Given the description of an element on the screen output the (x, y) to click on. 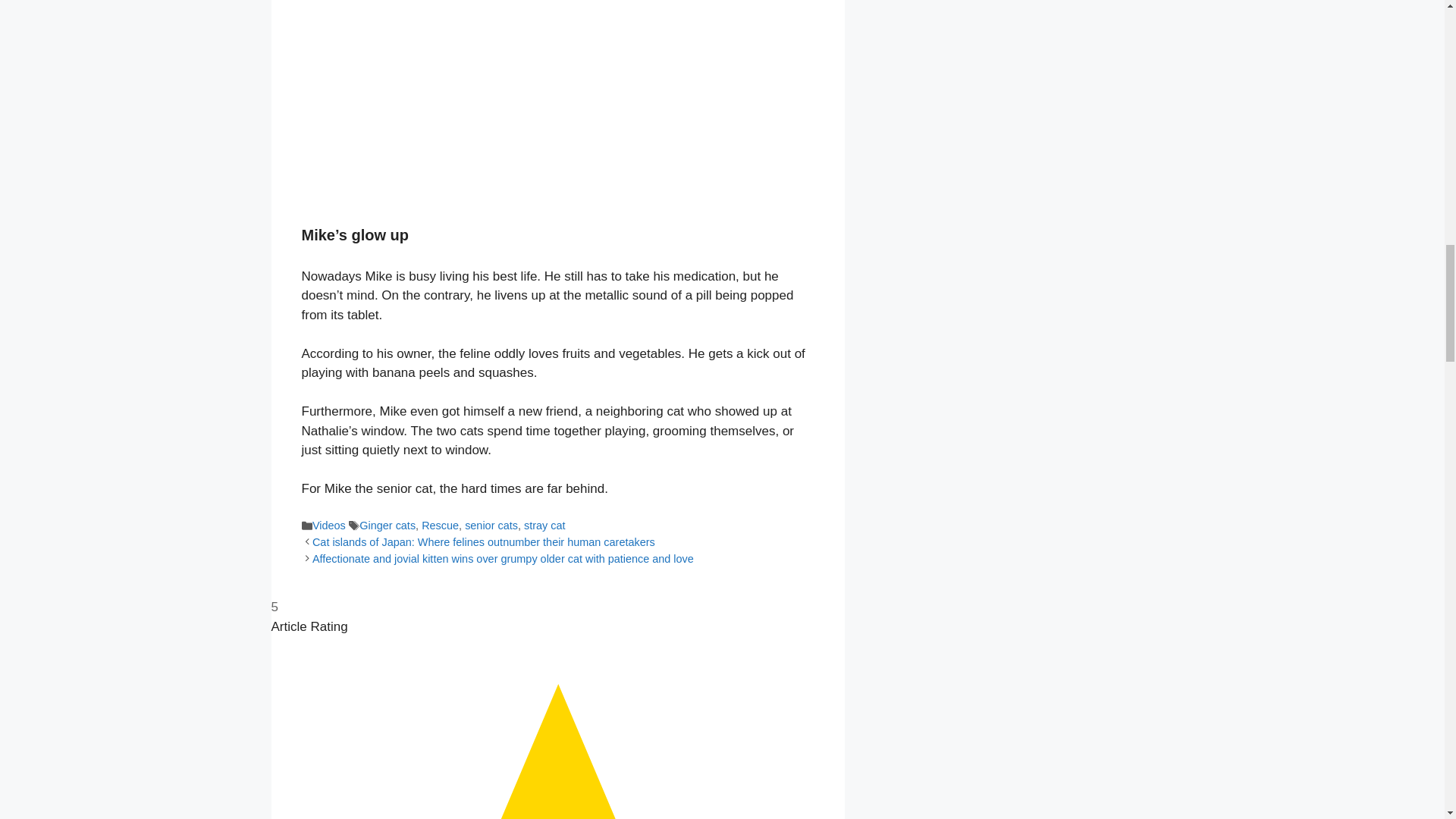
Ginger cats (386, 525)
senior cats (491, 525)
Rescue (440, 525)
YouTube video player (513, 100)
stray cat (545, 525)
Videos (329, 525)
